Given the description of an element on the screen output the (x, y) to click on. 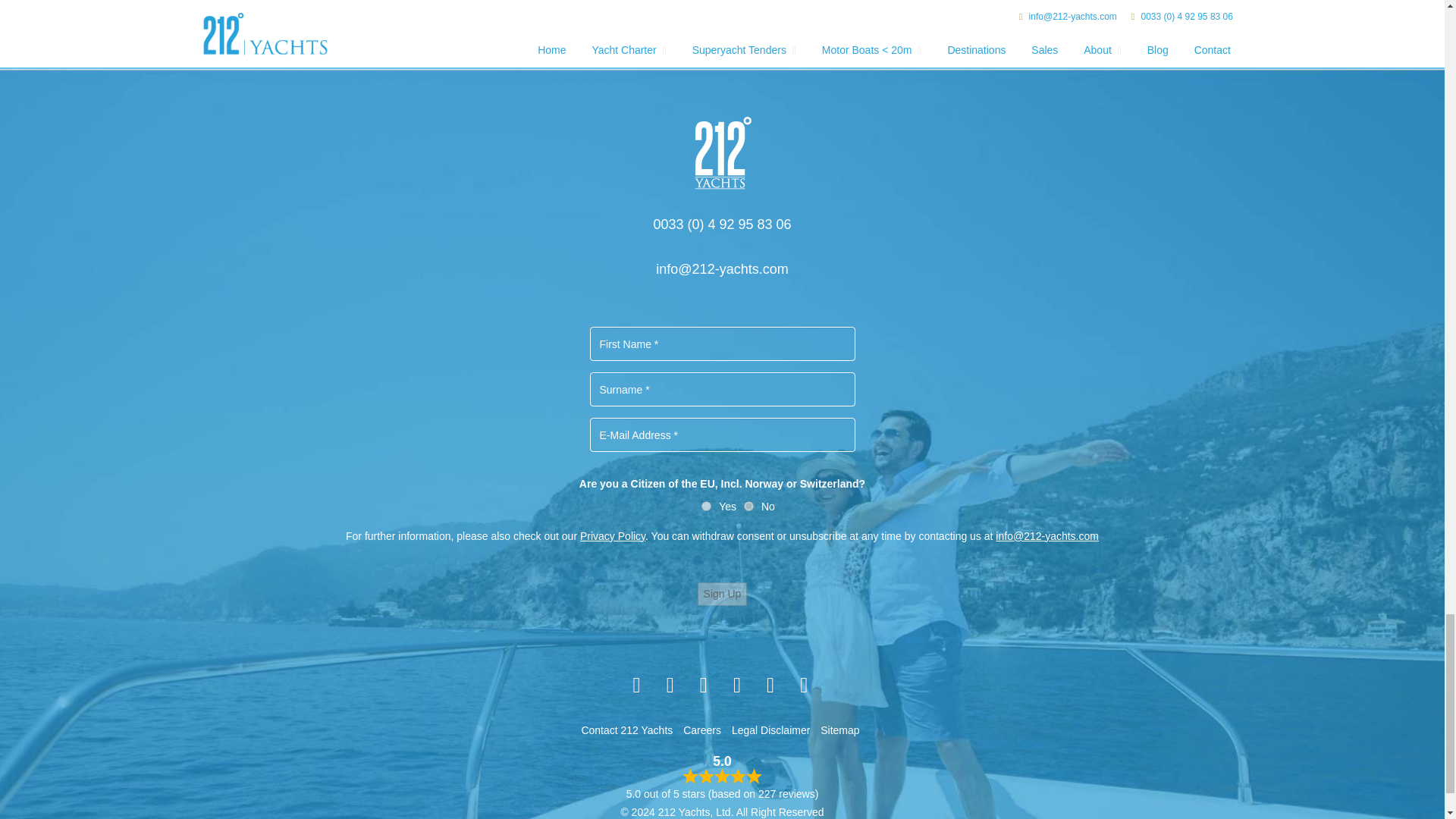
No (749, 506)
Yes (706, 506)
Sign Up (722, 594)
Submit (722, 15)
